Given the description of an element on the screen output the (x, y) to click on. 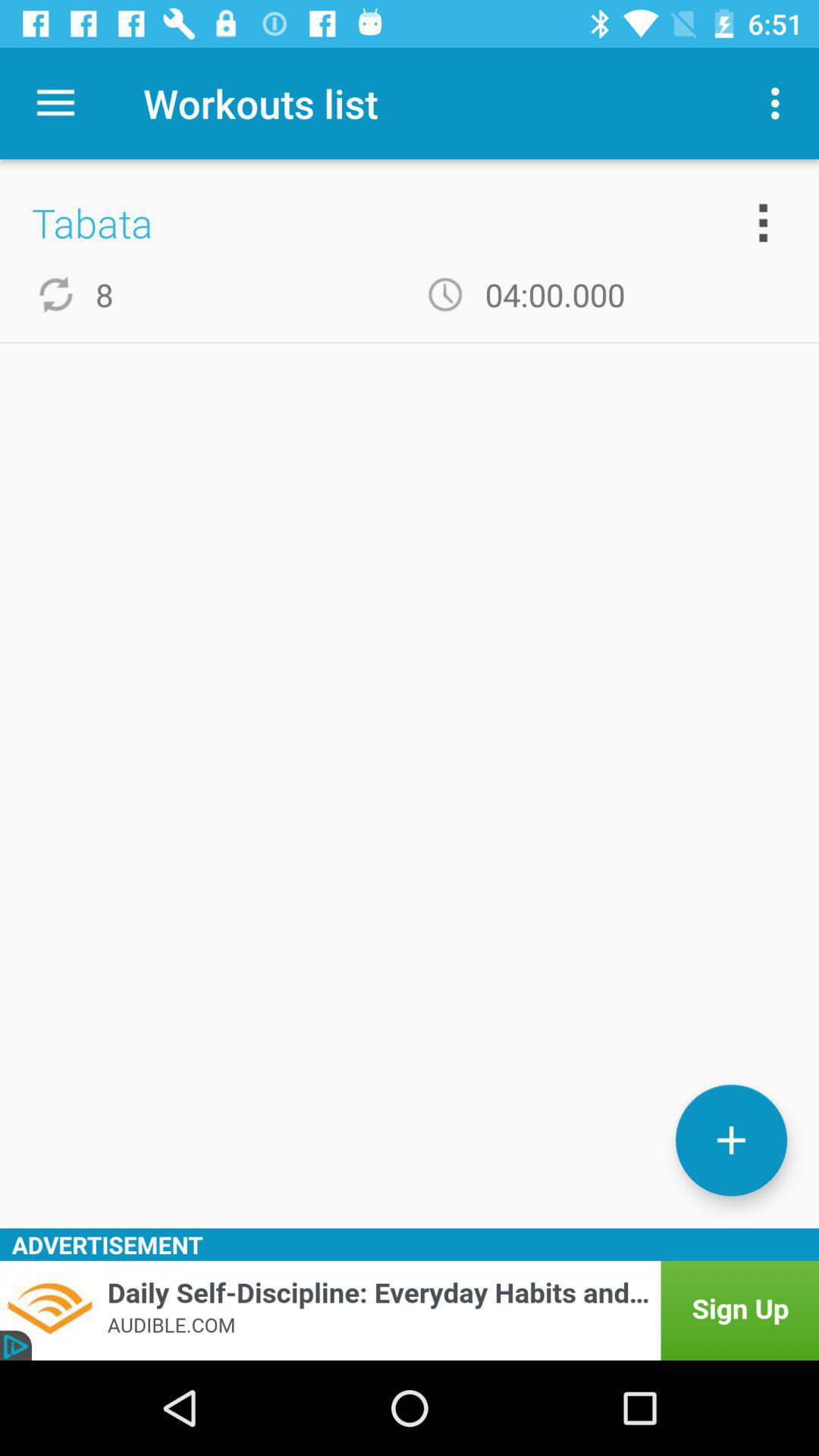
open advertisement (409, 1310)
